Given the description of an element on the screen output the (x, y) to click on. 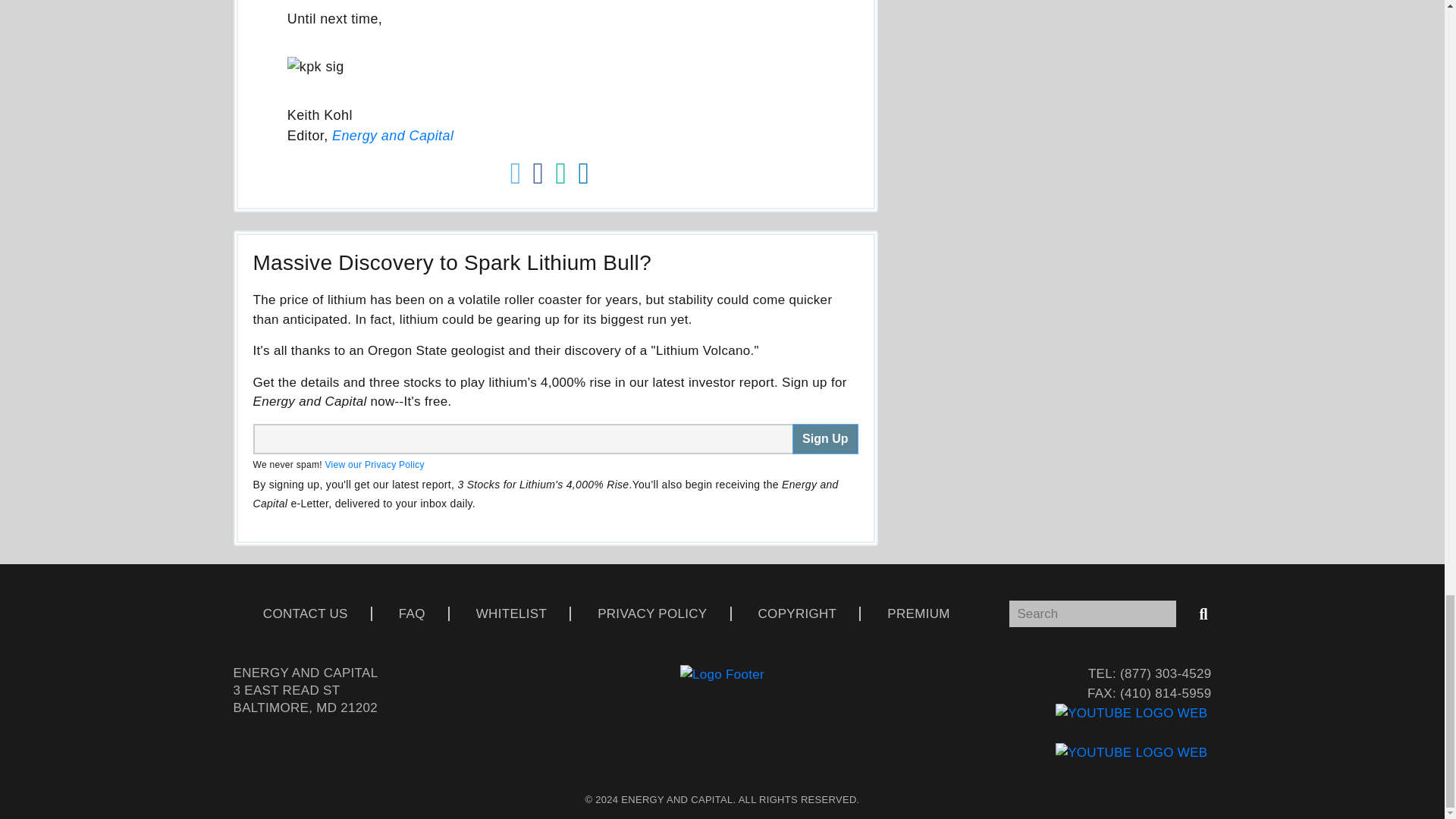
View our Privacy Policy (373, 464)
Sign Up (824, 439)
Energy and Capital (391, 135)
